Given the description of an element on the screen output the (x, y) to click on. 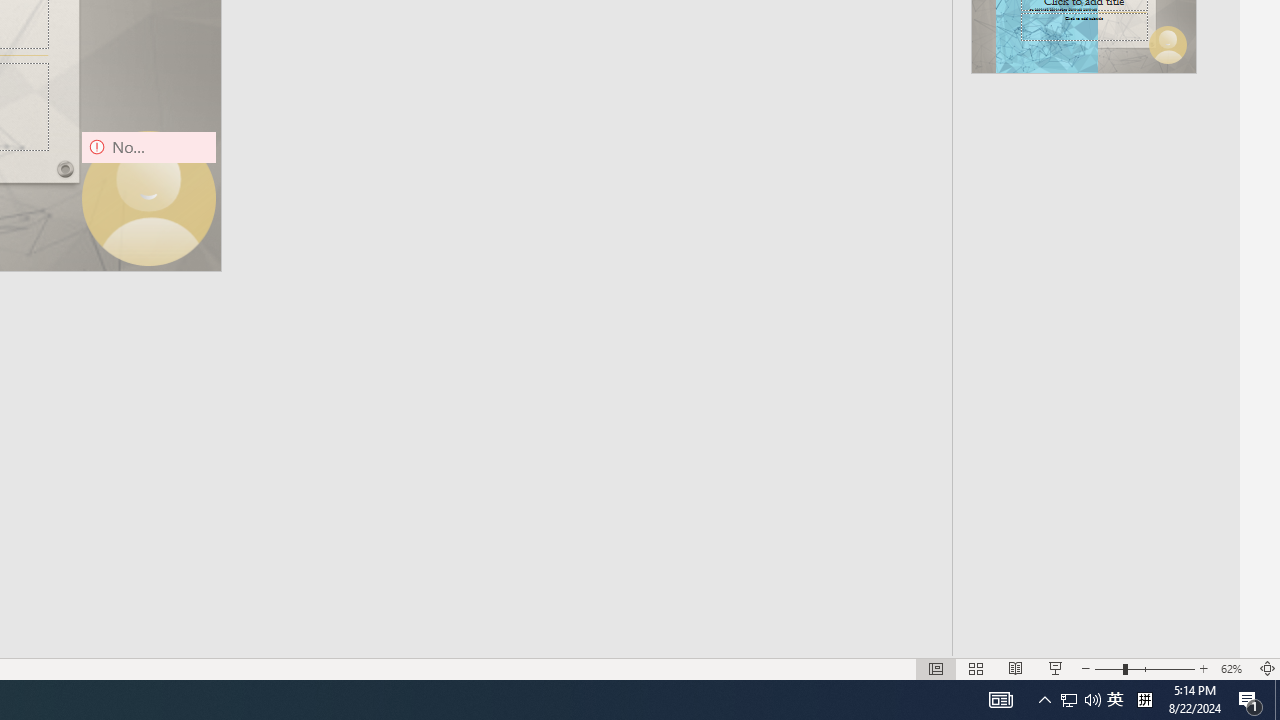
Notification Actions (1191, 487)
Ln 11, Col 12 (795, 628)
